Given the description of an element on the screen output the (x, y) to click on. 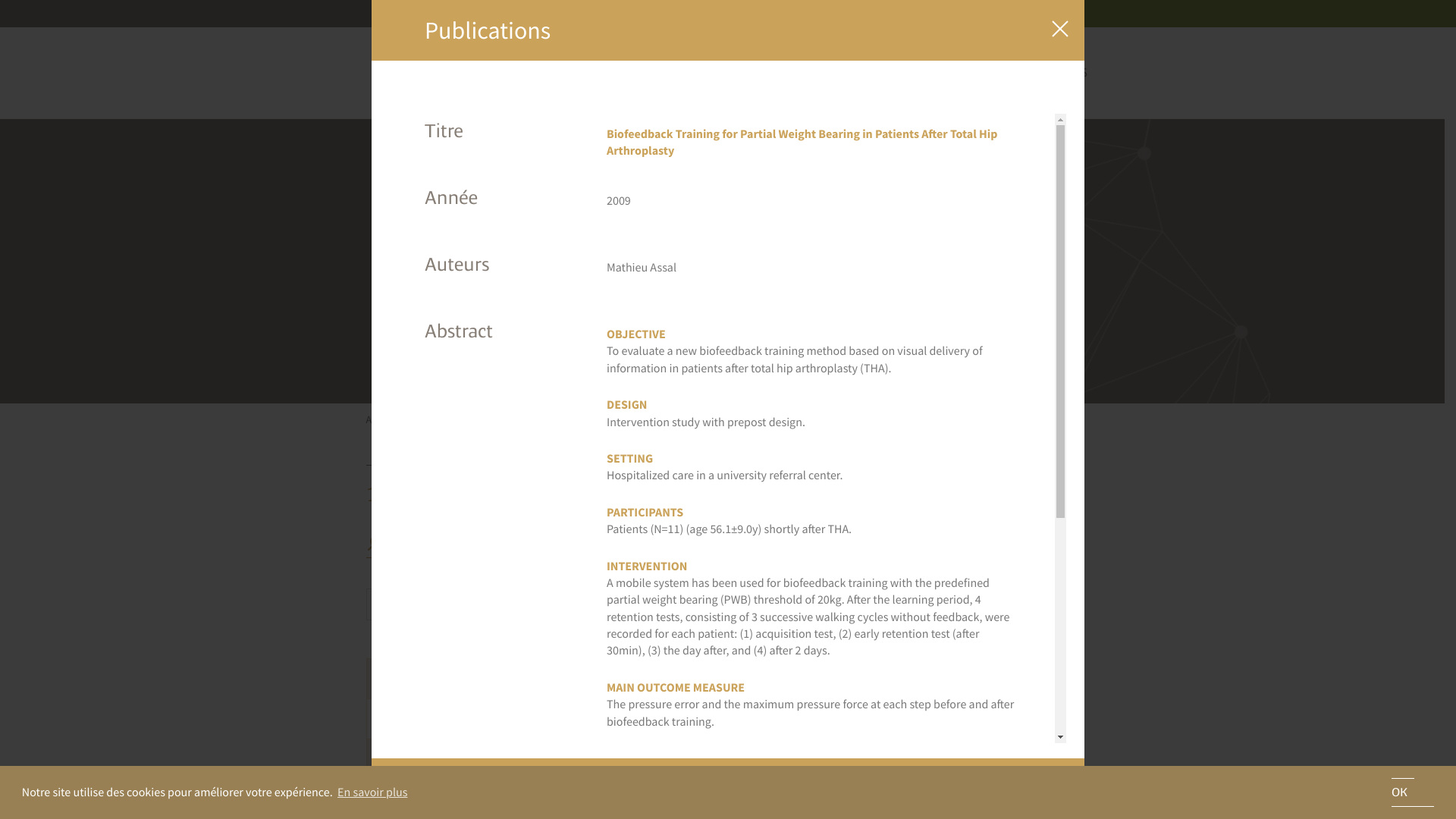
CENTRE Element type: text (534, 92)
CONTACT Element type: text (830, 13)
TRAITEMENTS Element type: text (719, 92)
Lire la suite Element type: text (514, 789)
OK Element type: text (1412, 792)
PRENDRE UN RENDEZ-VOUS Element type: text (997, 13)
EN Element type: text (887, 13)
FELLOWSHIPS Element type: text (1049, 92)
PATHOLOGIES Element type: text (618, 92)
FORMATIONS Element type: text (657, 13)
En savoir plus Element type: text (372, 792)
Accueil Element type: text (381, 419)
